Given the description of an element on the screen output the (x, y) to click on. 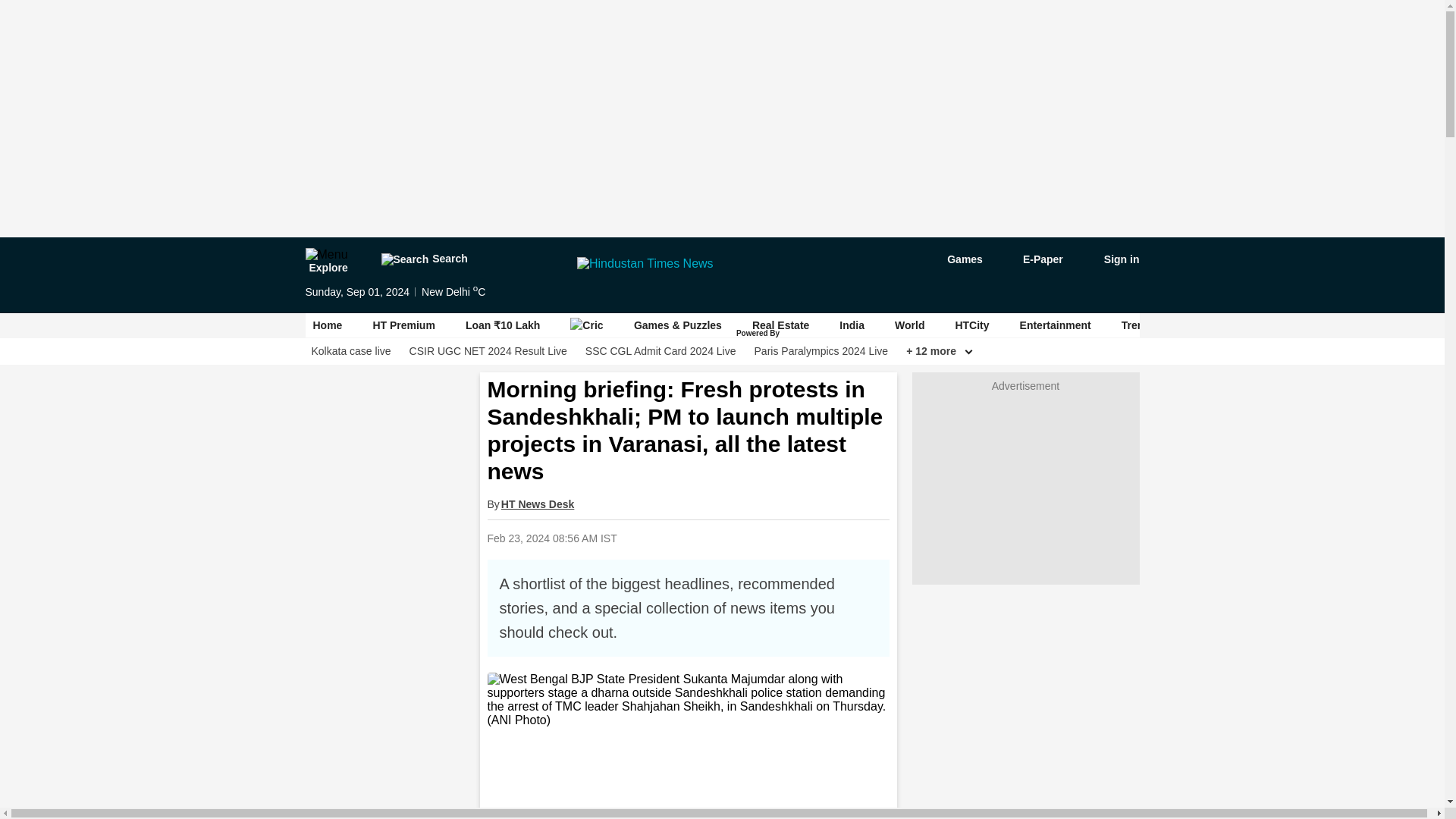
Paris Paralympics 2024 Live (821, 350)
Lifestyle (1297, 325)
CSIR UGC NET 2024 Result Live (488, 350)
E-Paper (1034, 258)
game (954, 258)
epaper (1034, 258)
Astrology (1221, 325)
Share on Twitter (749, 537)
Entertainment (1055, 325)
Powered By (758, 333)
